Given the description of an element on the screen output the (x, y) to click on. 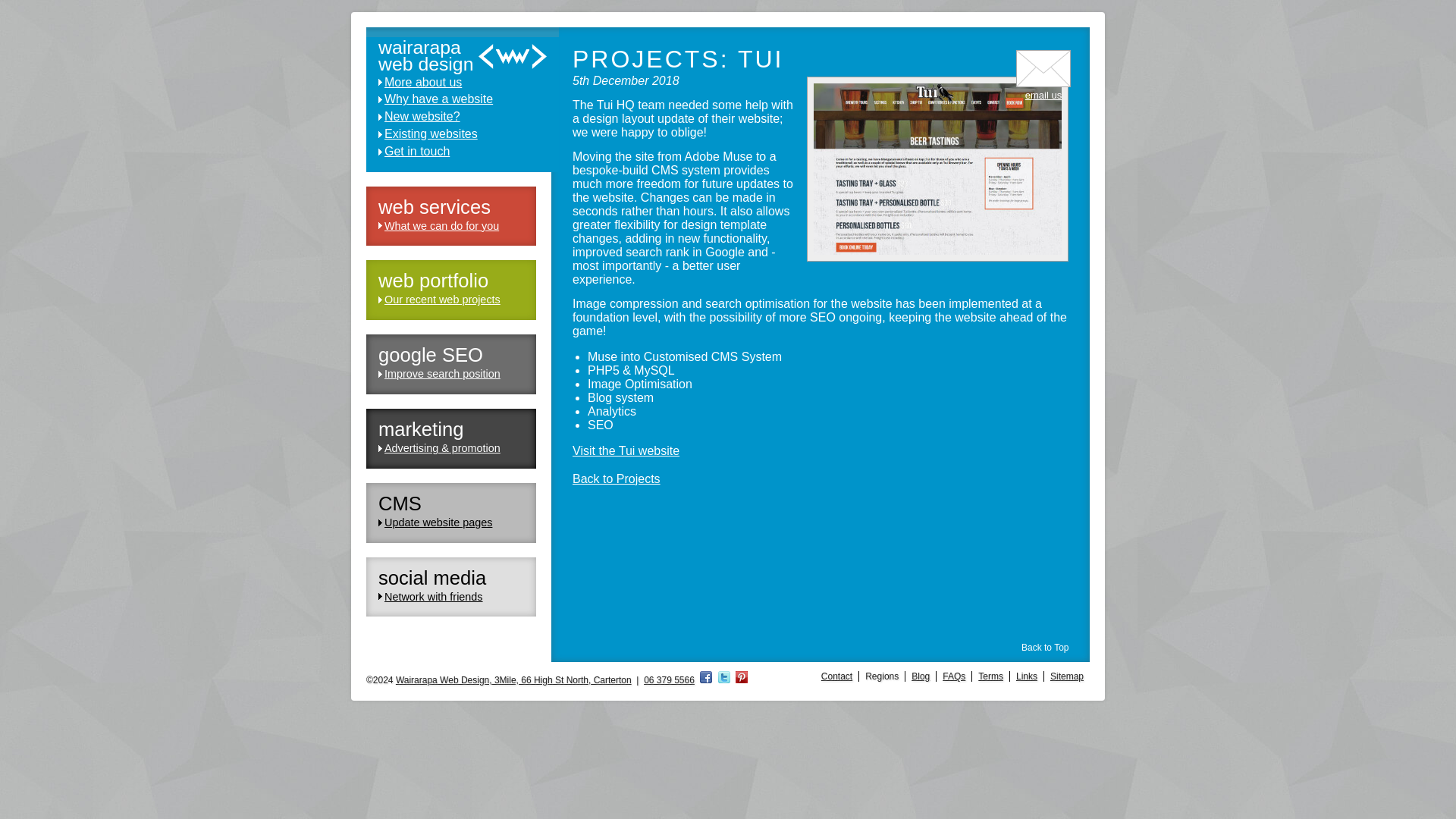
Get in touch (1043, 88)
What we can do for you (441, 225)
Links (1026, 675)
Terms (990, 675)
Blog (920, 675)
web services (434, 206)
Regions (881, 675)
social media (432, 577)
Like us on Facebook (705, 679)
Improve search position (442, 373)
Sitemap (1066, 675)
web portfolio (432, 280)
Existing websites (456, 134)
Why have a website (456, 99)
Wairarapa Web Design Home (462, 56)
